Given the description of an element on the screen output the (x, y) to click on. 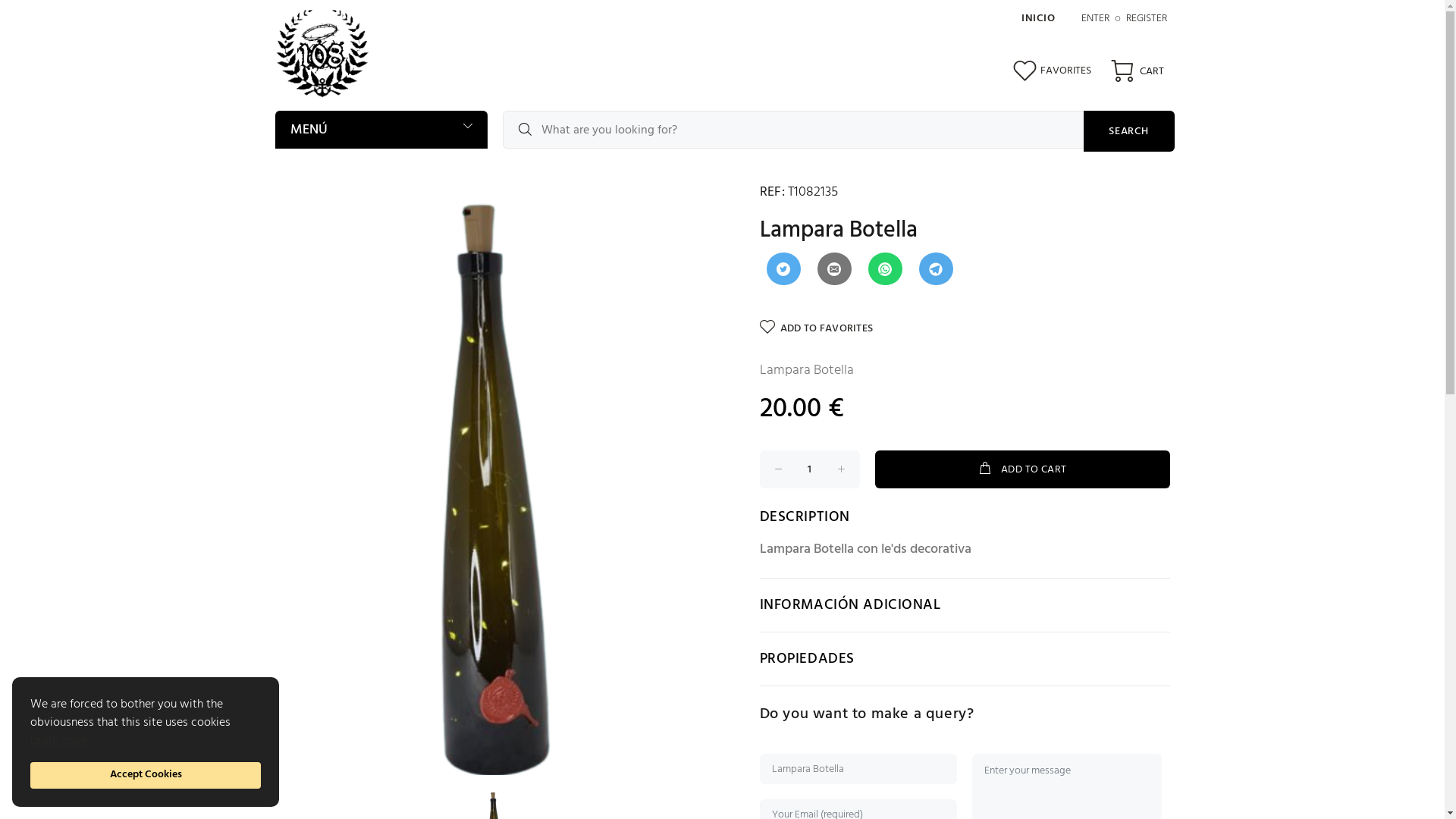
REGISTER Element type: text (1145, 18)
FAVORITES Element type: text (1052, 77)
ADD TO FAVORITES Element type: text (816, 326)
INICIO Element type: text (1037, 18)
SEARCH Element type: text (1127, 130)
Learn more Element type: text (58, 740)
CART Element type: text (1135, 71)
ENTER Element type: text (1095, 18)
ADD TO CART Element type: text (1022, 469)
Accept Cookies Element type: text (145, 774)
